Given the description of an element on the screen output the (x, y) to click on. 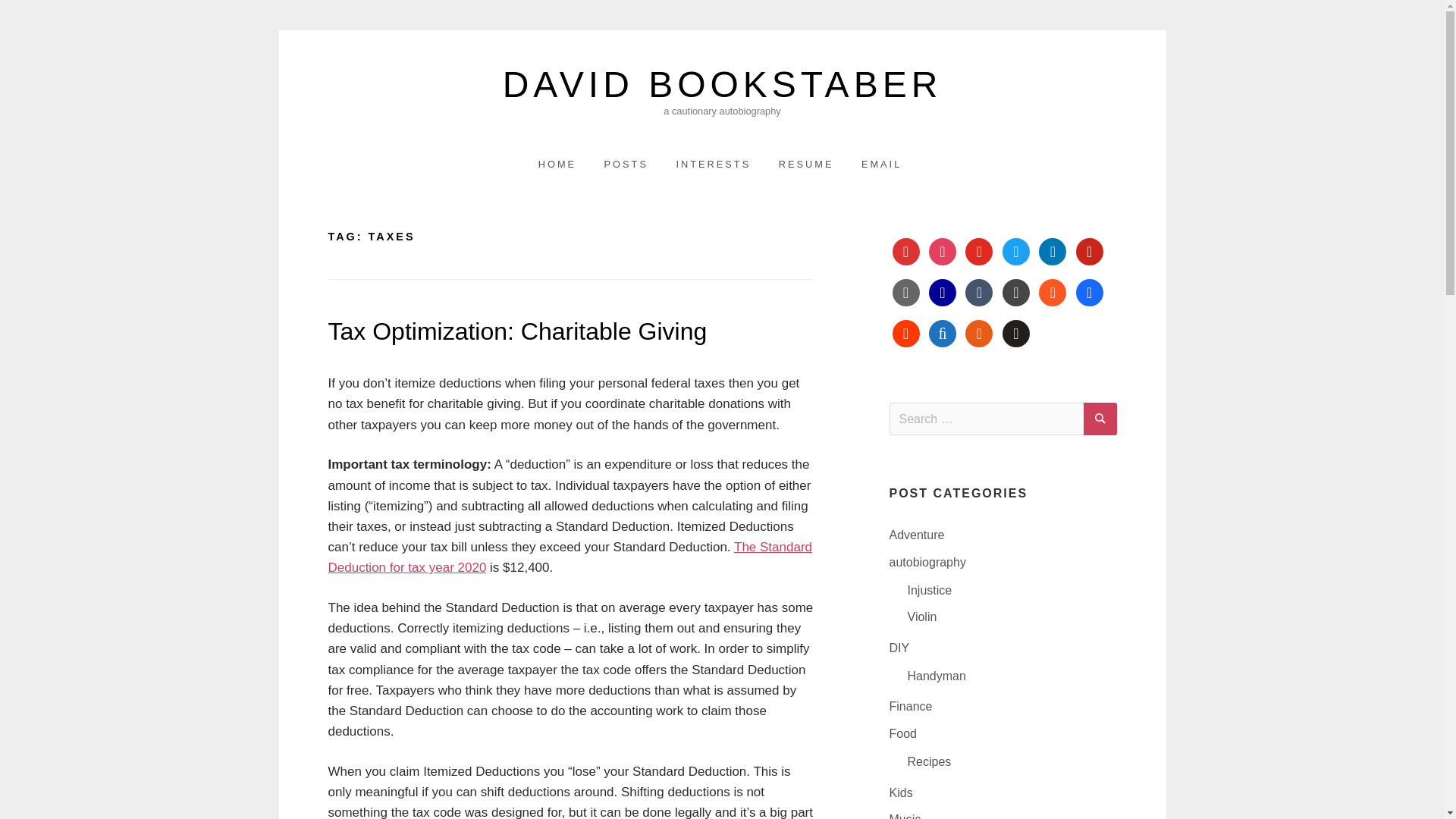
LinkedIn (1052, 250)
wordpress (1016, 291)
blogger (1052, 291)
RESUME (806, 163)
Pinterest (1089, 250)
Violin (921, 616)
pinterest (1089, 250)
Twitter (1016, 250)
EMAIL (880, 163)
INTERESTS (713, 163)
HOME (557, 163)
stackoverflow (978, 332)
behance (1089, 291)
soundcloud (904, 332)
ResearchGate (942, 291)
